Given the description of an element on the screen output the (x, y) to click on. 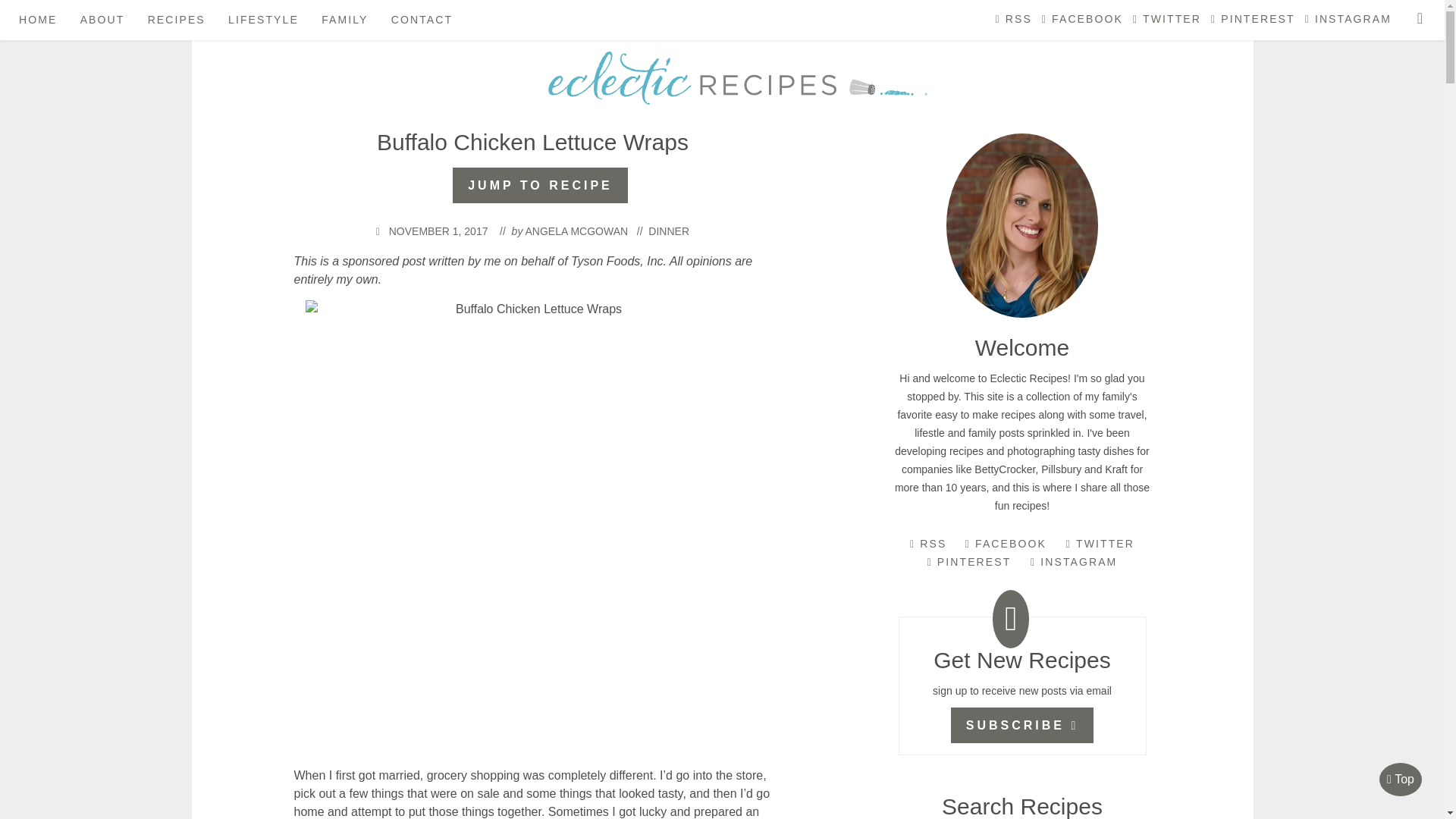
CONTACT (416, 20)
Follow on Twitter (1165, 24)
Follow on Pinterest (1251, 24)
Follow my RSS Feed (1011, 24)
HOME (33, 20)
TWITTER (1165, 24)
ABOUT (98, 20)
close-search (1420, 18)
FAMILY (340, 20)
LIFESTYLE (258, 20)
